Given the description of an element on the screen output the (x, y) to click on. 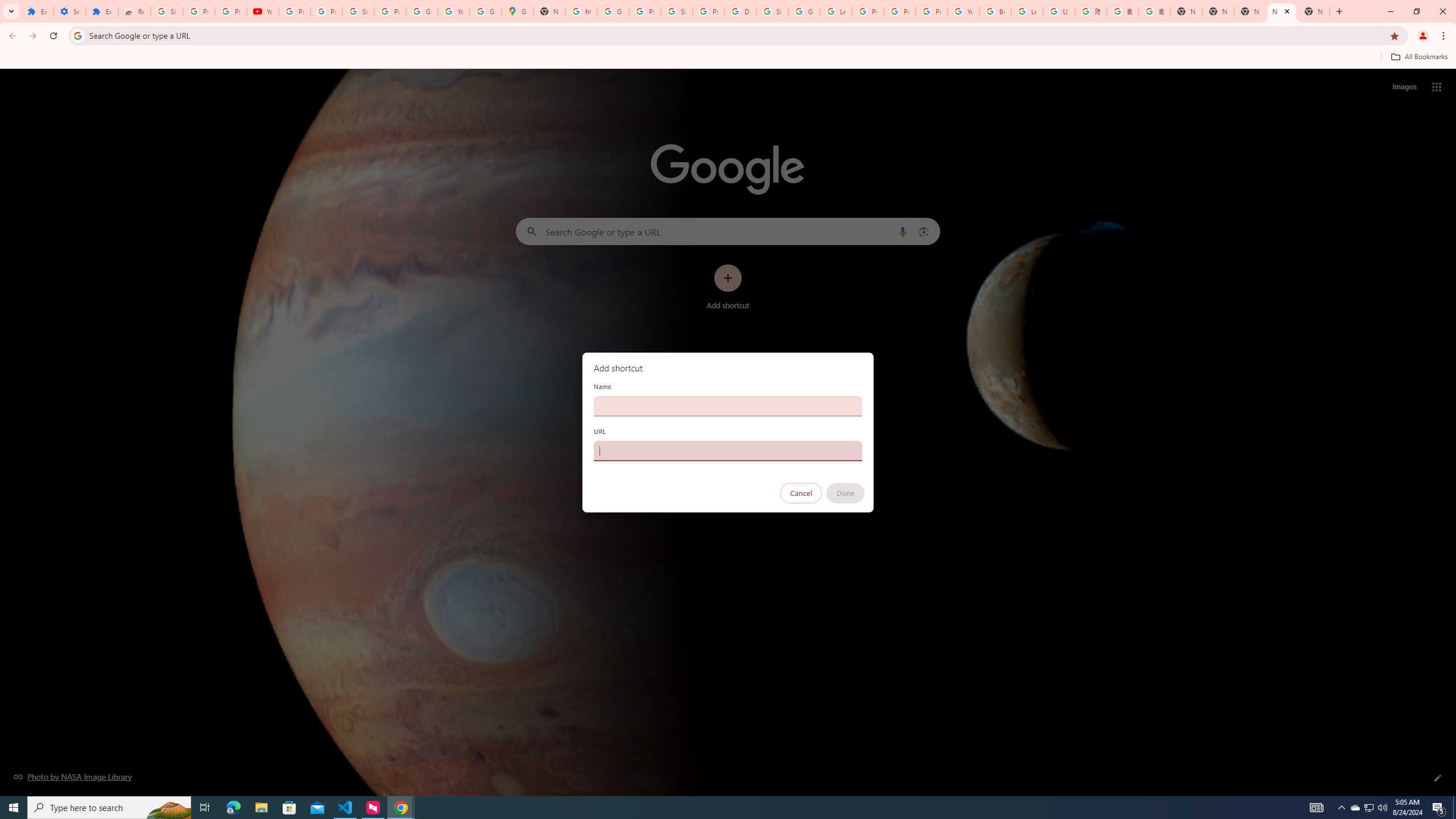
YouTube (453, 11)
Privacy Help Center - Policies Help (868, 11)
Settings (69, 11)
Privacy Help Center - Policies Help (899, 11)
YouTube (262, 11)
New Tab (1185, 11)
